Given the description of an element on the screen output the (x, y) to click on. 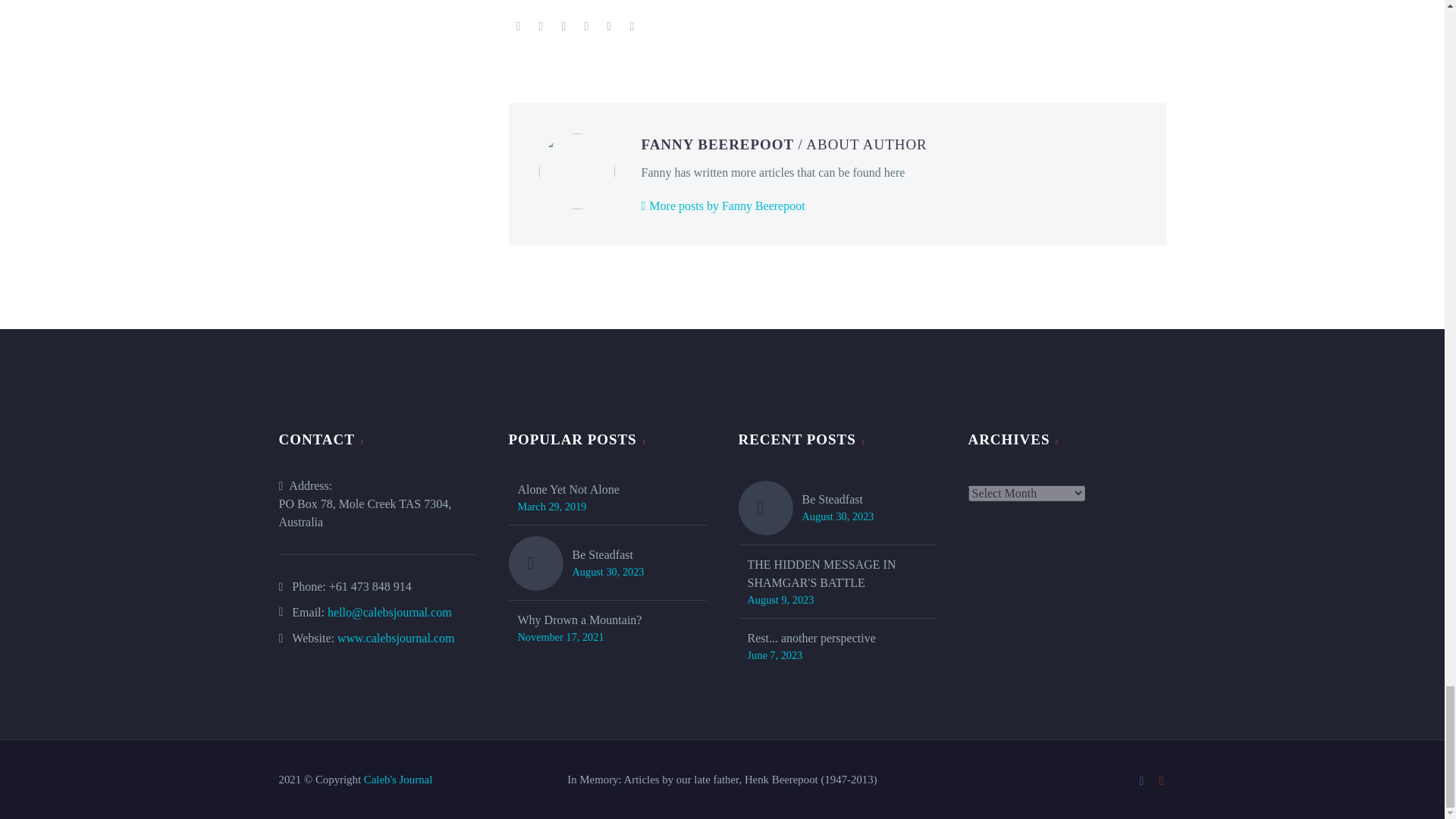
Tumblr (586, 26)
Reddit (632, 26)
YouTube (1161, 780)
Pinterest (563, 26)
More posts by Fanny Beerepoot (723, 205)
Why Drown a Mountain? (579, 619)
Facebook (518, 26)
Alone Yet Not Alone (567, 489)
Be Steadfast (607, 555)
www.calebsjournal.com (395, 637)
